Given the description of an element on the screen output the (x, y) to click on. 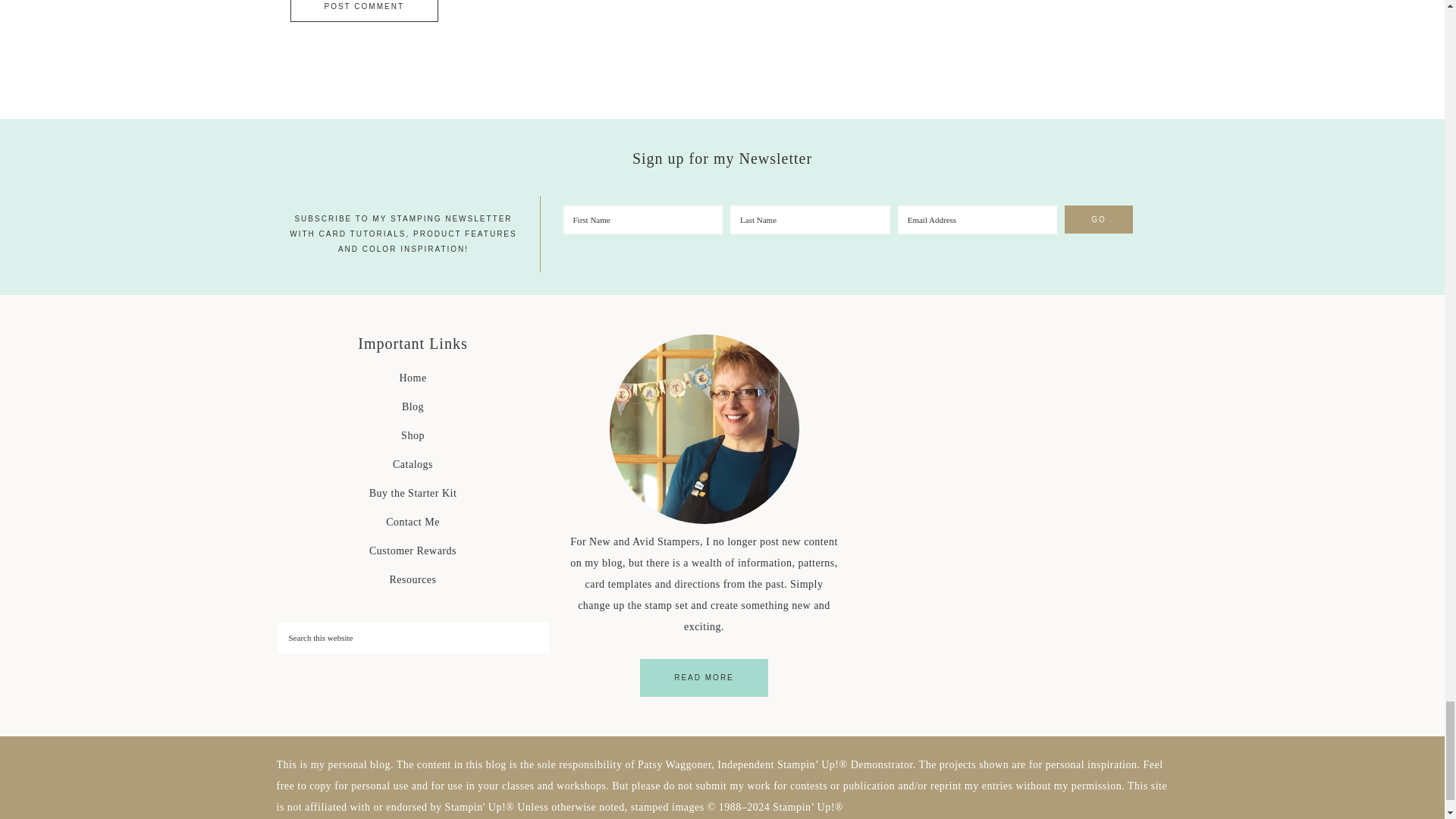
Post Comment (363, 11)
Go (1098, 219)
